Given the description of an element on the screen output the (x, y) to click on. 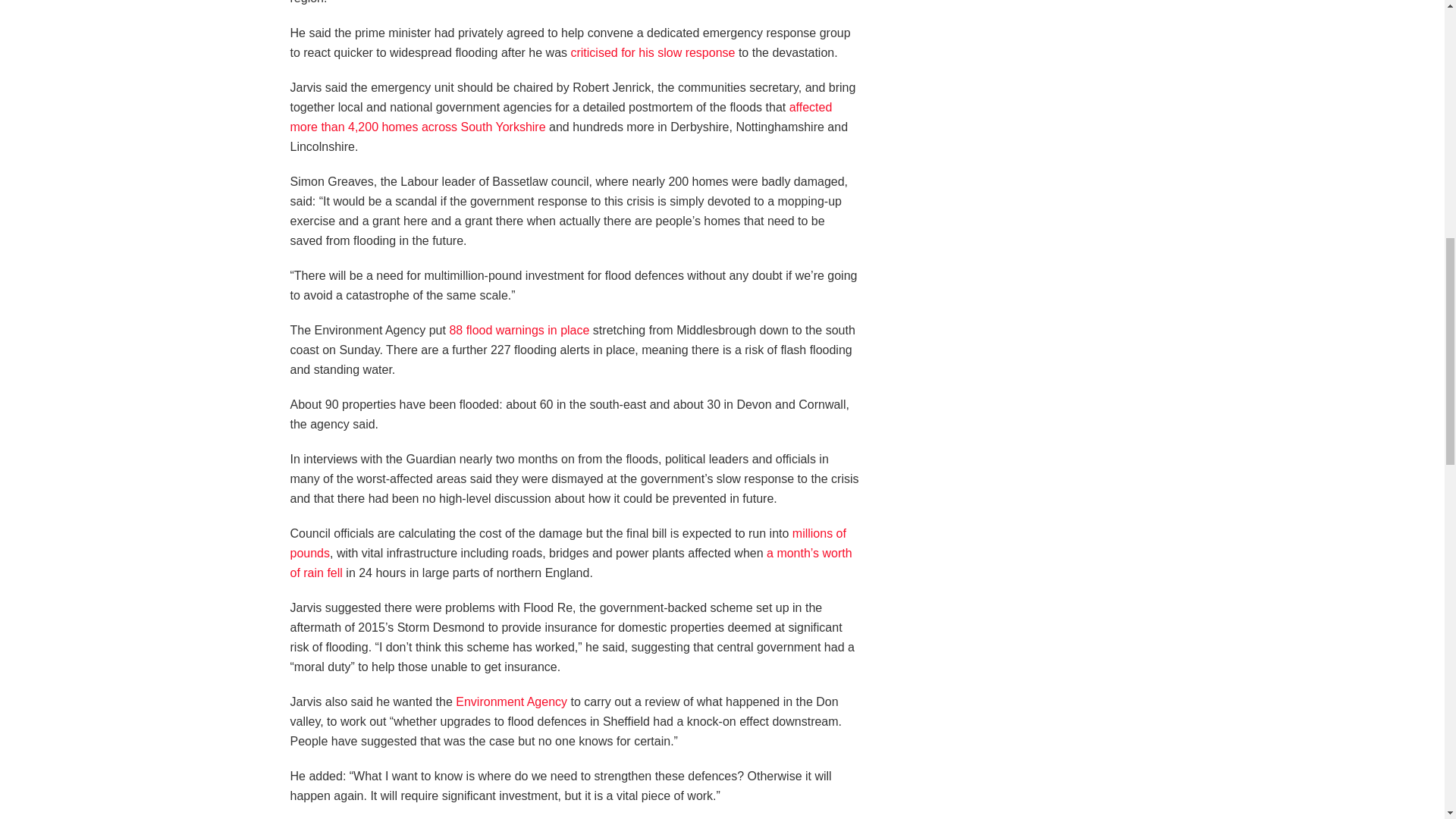
affected more than 4,200 homes across South Yorkshire (560, 116)
criticised for his slow response (652, 51)
millions of pounds (567, 543)
88 flood warnings in place (518, 329)
Environment Agency (511, 701)
